Given the description of an element on the screen output the (x, y) to click on. 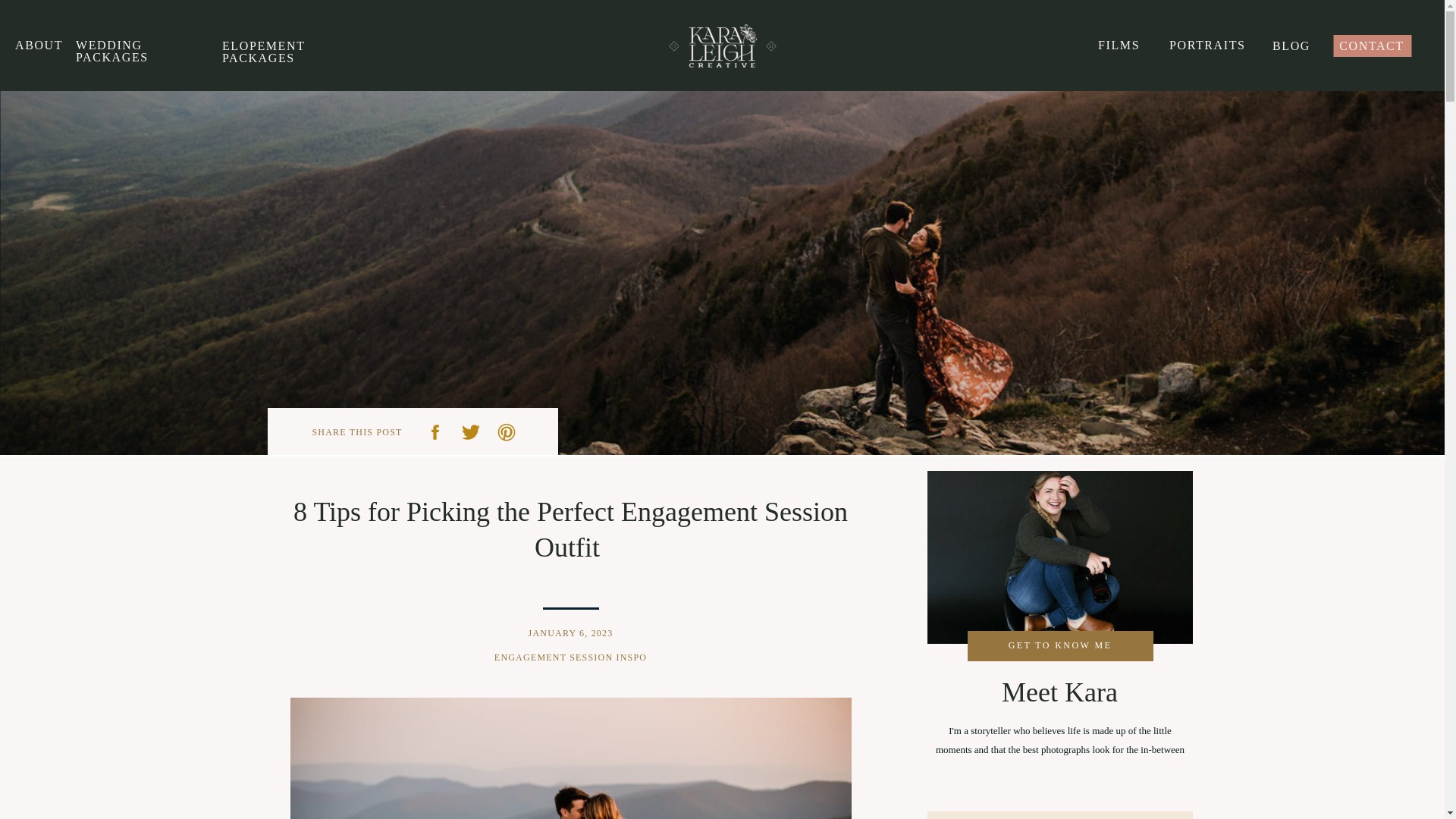
ENGAGEMENT SESSION INSPO (570, 656)
BLOG (1290, 45)
WEDDING PACKAGES (135, 44)
ABOUT (31, 44)
PORTRAITS (1206, 45)
FILMS (1118, 45)
GET TO KNOW ME (1059, 645)
CONTACT (1372, 45)
ELOPEMENT PACKAGES (289, 46)
